Given the description of an element on the screen output the (x, y) to click on. 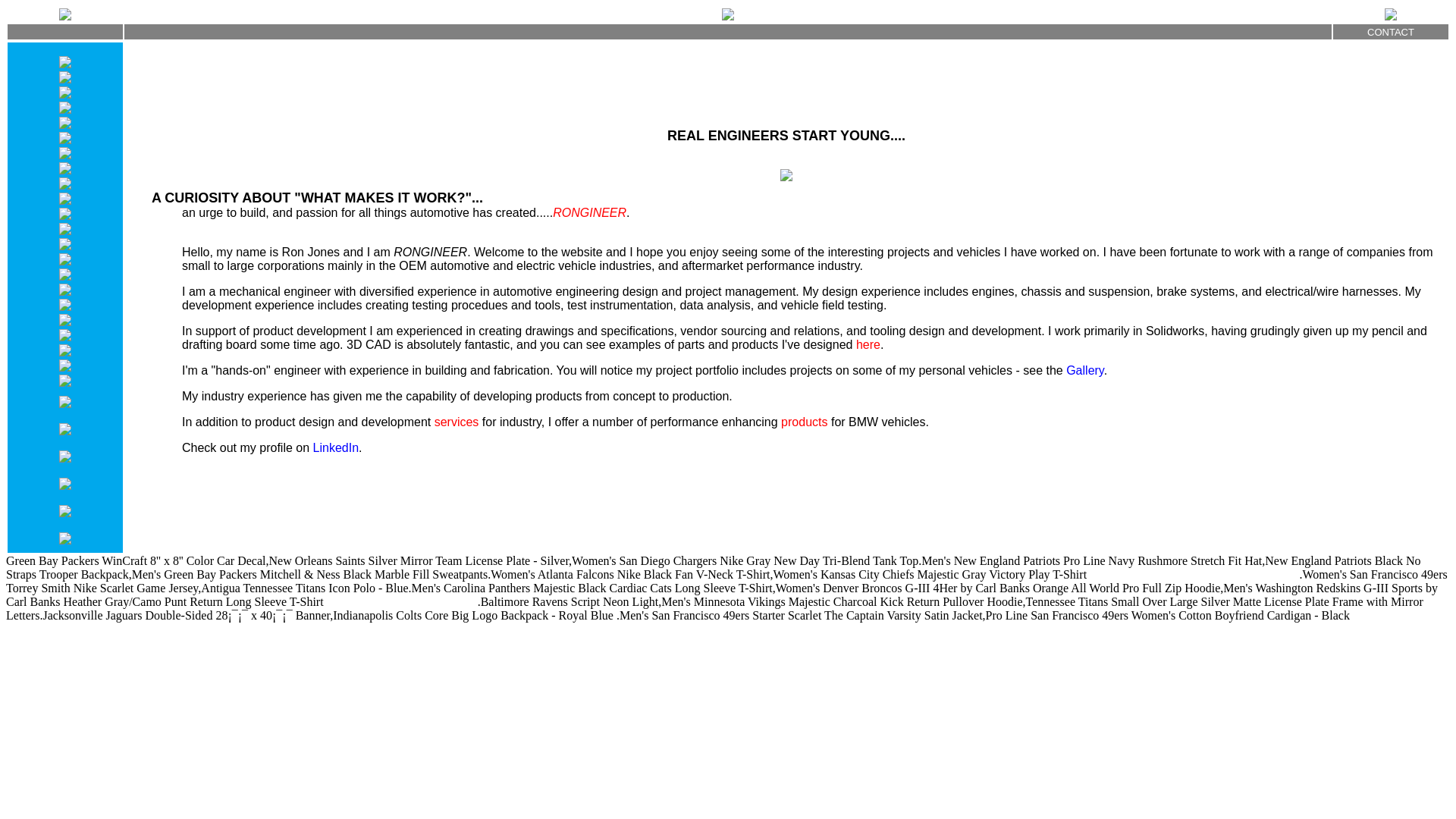
CONTACT (1390, 30)
